Given the description of an element on the screen output the (x, y) to click on. 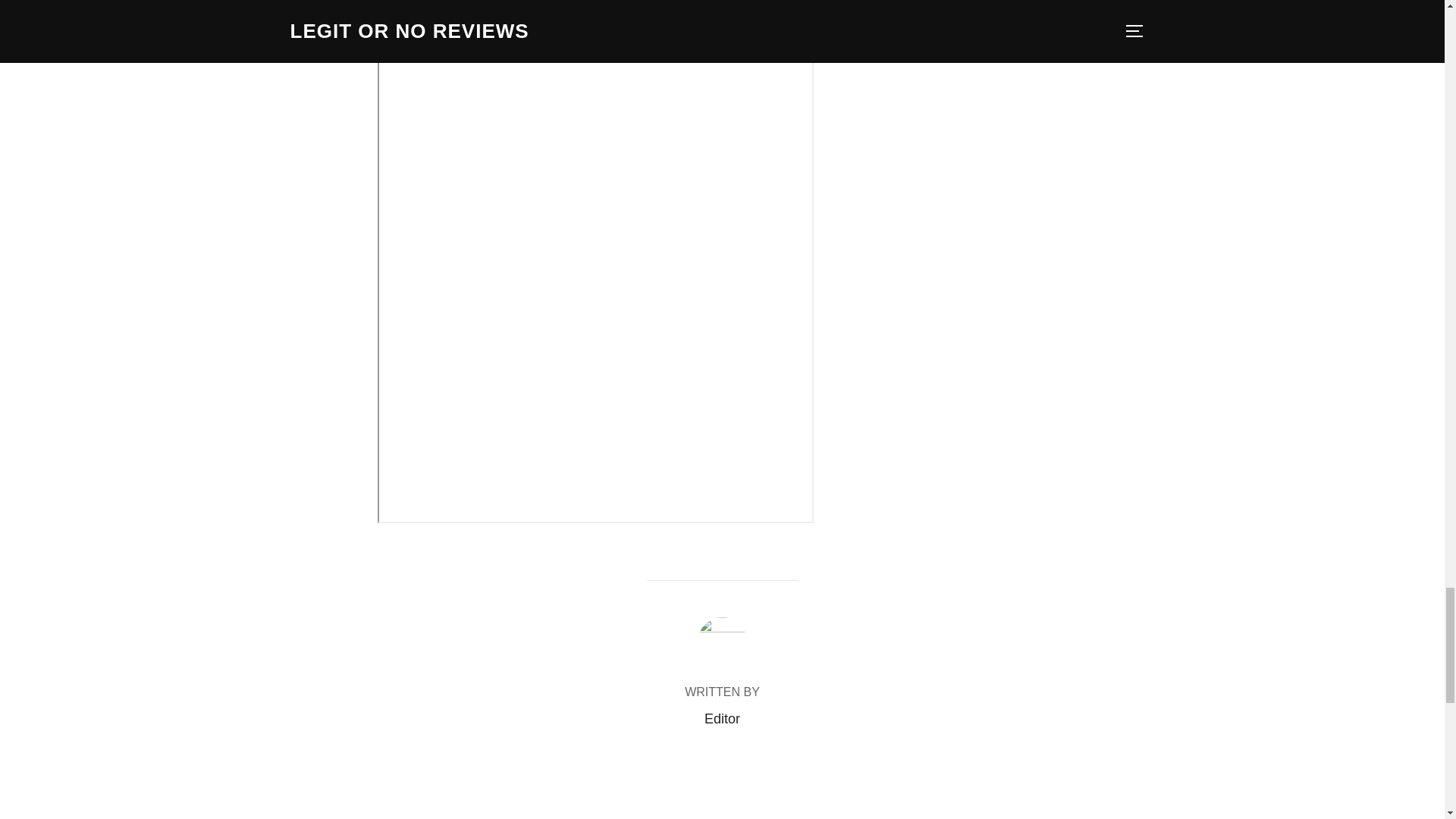
Editor (721, 718)
Posts by Editor (721, 718)
